Given the description of an element on the screen output the (x, y) to click on. 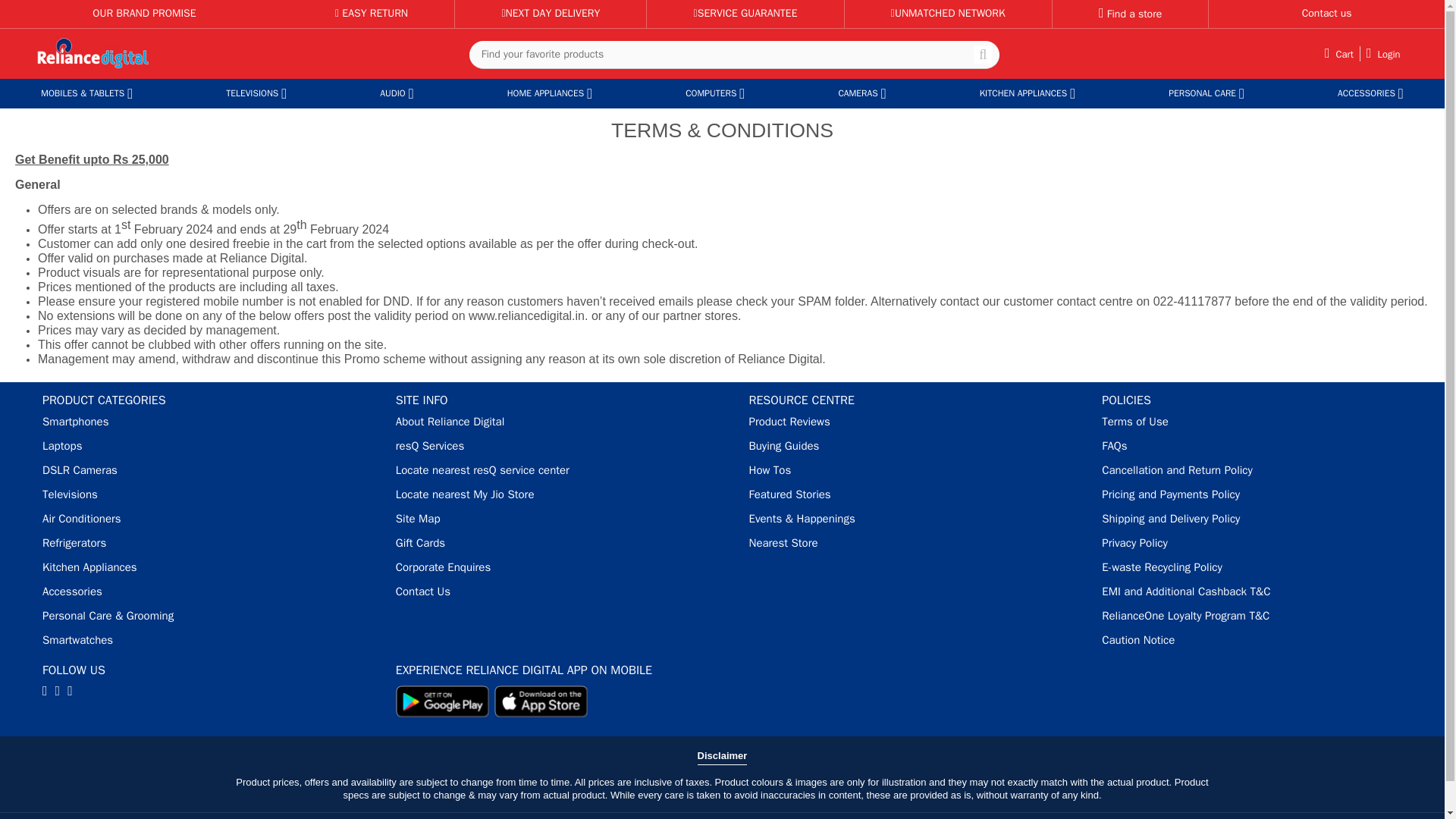
googlePlayStore (442, 701)
EASY RETURN (370, 12)
Cart (1339, 53)
SERVICE GUARANTEE (745, 12)
Find a store (1130, 13)
Contact us (1326, 12)
Reliance Digital Logo (92, 53)
AppleStore (541, 701)
